Given the description of an element on the screen output the (x, y) to click on. 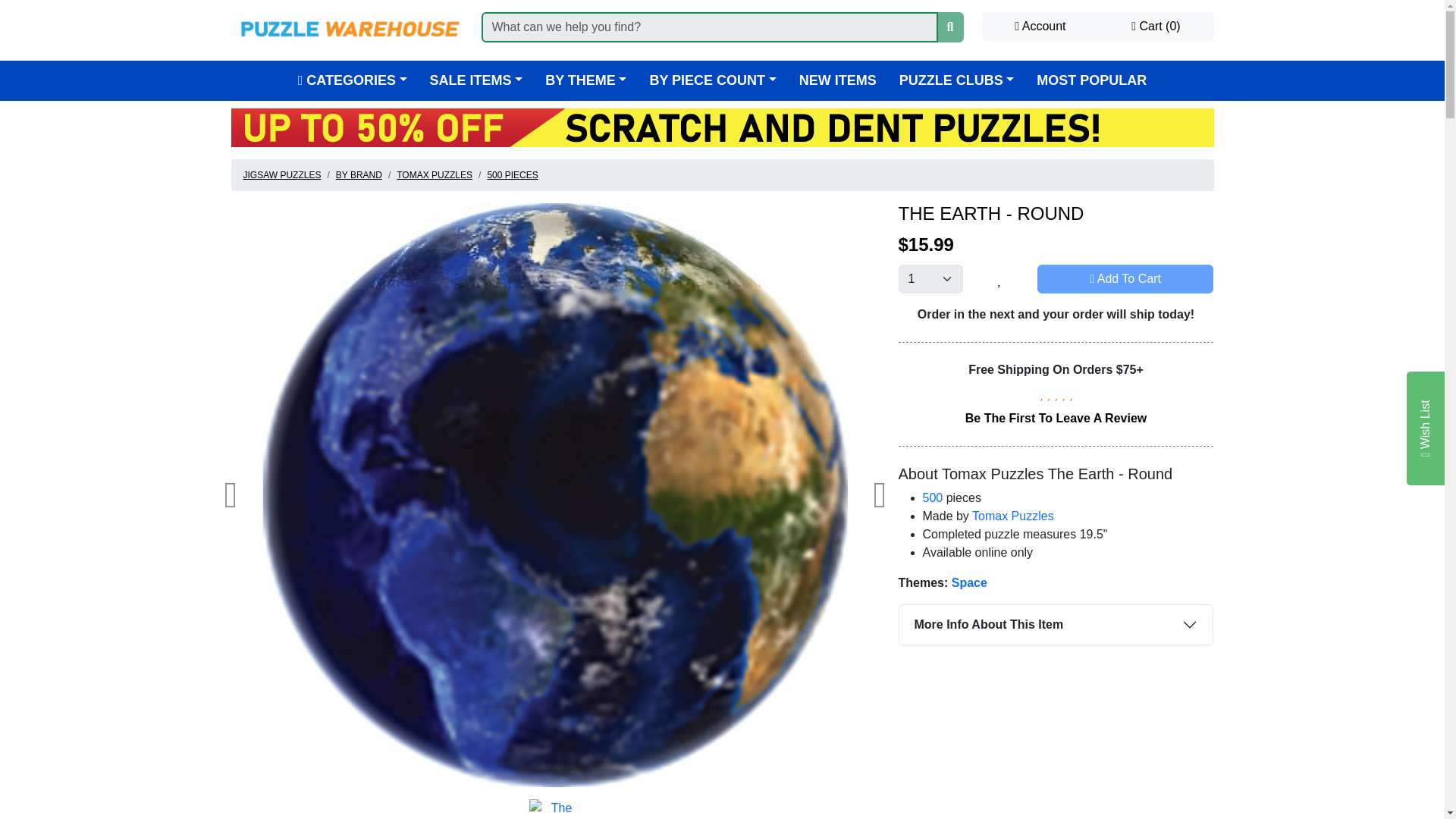
Quantity (930, 278)
Add To Wish List (999, 278)
CATEGORIES (352, 80)
Account (1040, 26)
